Given the description of an element on the screen output the (x, y) to click on. 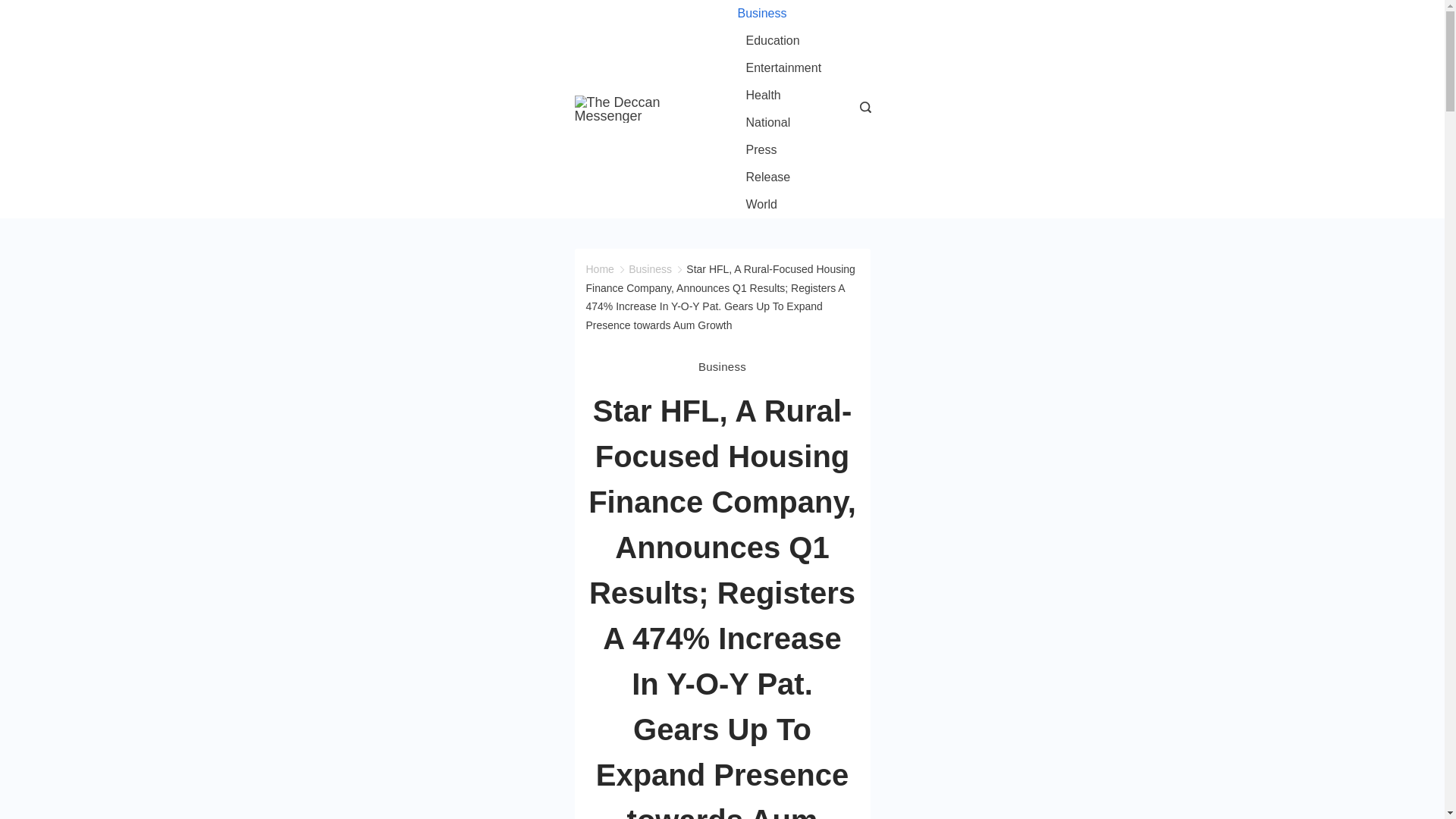
Health (762, 94)
Business (765, 13)
Entertainment (782, 67)
World (756, 204)
Home (598, 268)
National (766, 122)
Business (721, 366)
Business (649, 268)
Press Release (782, 163)
Education (772, 40)
